Given the description of an element on the screen output the (x, y) to click on. 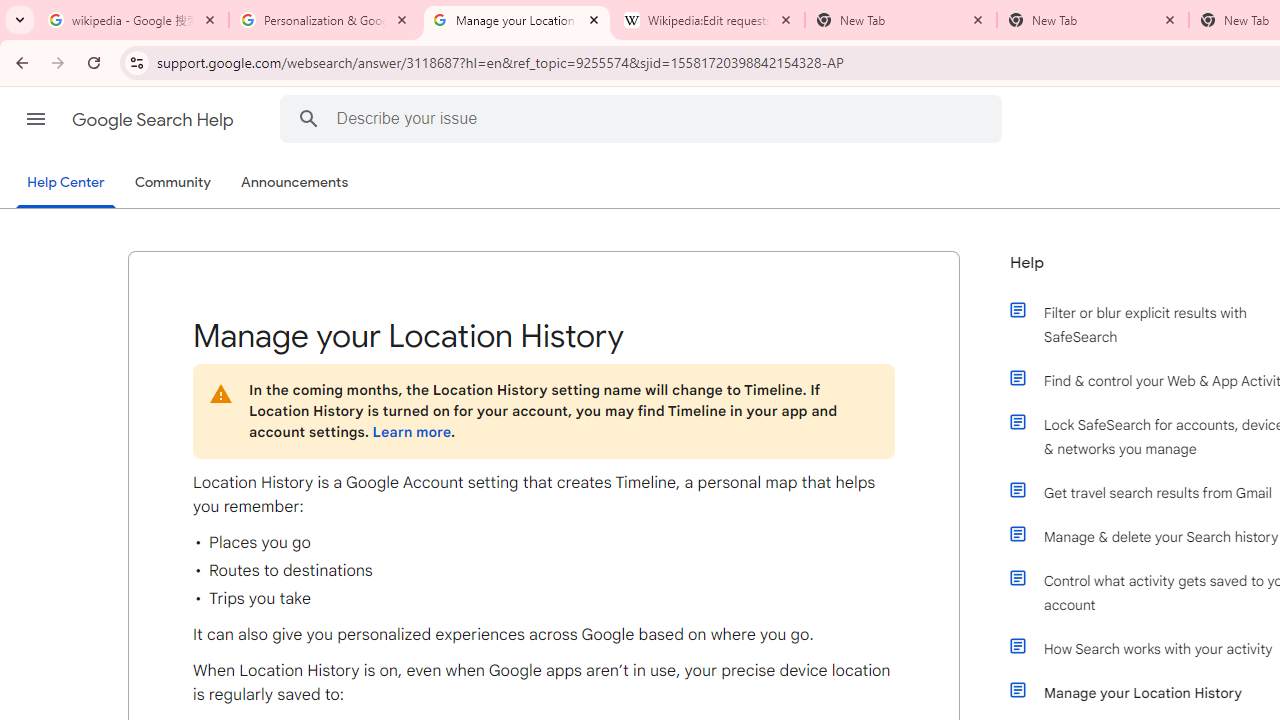
Describe your issue (643, 118)
Personalization & Google Search results - Google Search Help (325, 20)
Wikipedia:Edit requests - Wikipedia (709, 20)
Learn more (411, 431)
Google Search Help (154, 119)
